Given the description of an element on the screen output the (x, y) to click on. 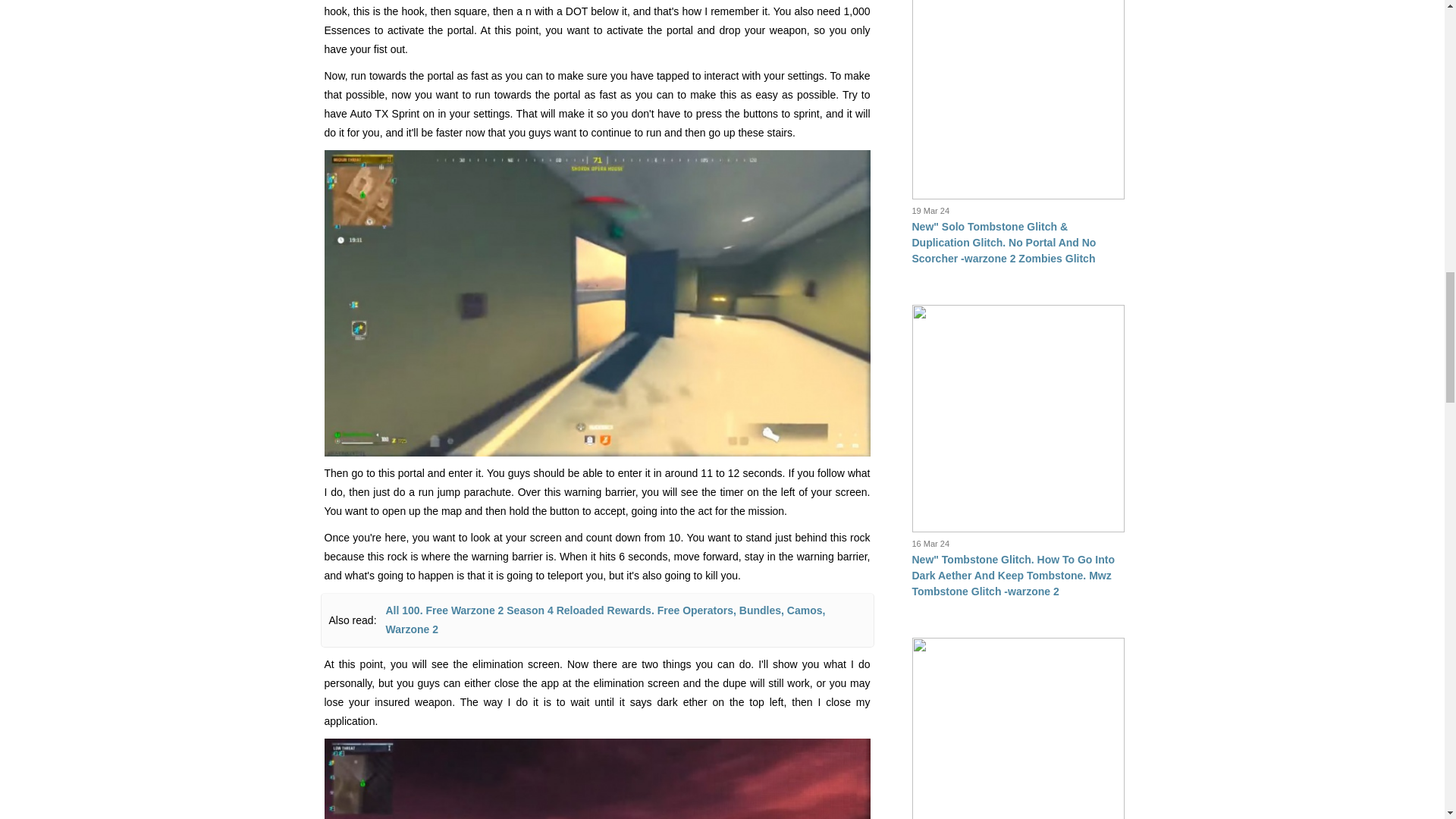
mw3 zombies best weapons (597, 778)
